Given the description of an element on the screen output the (x, y) to click on. 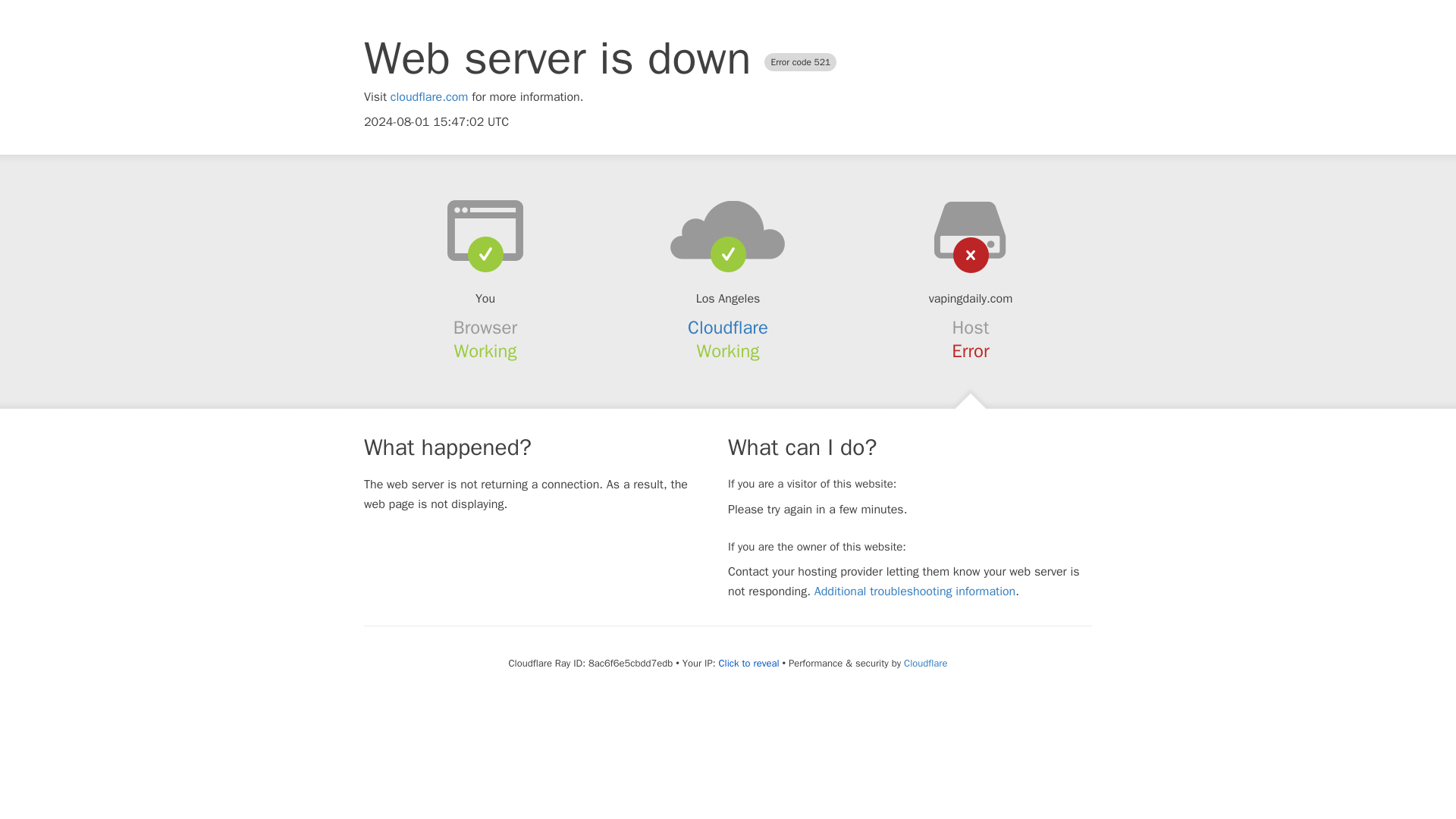
Additional troubleshooting information (913, 590)
Cloudflare (925, 662)
Click to reveal (748, 663)
Cloudflare (727, 327)
cloudflare.com (429, 96)
